Given the description of an element on the screen output the (x, y) to click on. 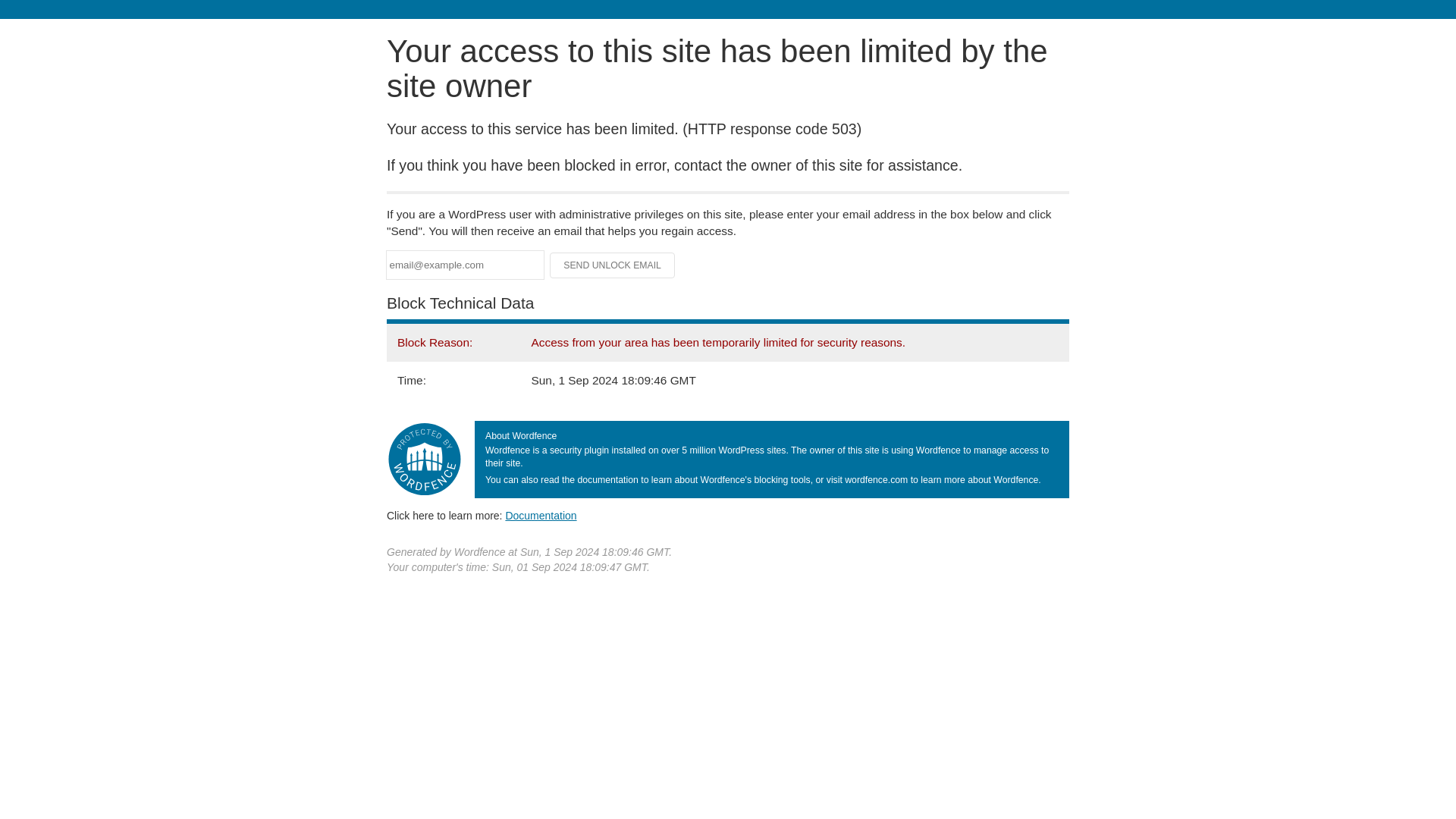
Send Unlock Email (612, 265)
Documentation (540, 515)
Send Unlock Email (612, 265)
